Given the description of an element on the screen output the (x, y) to click on. 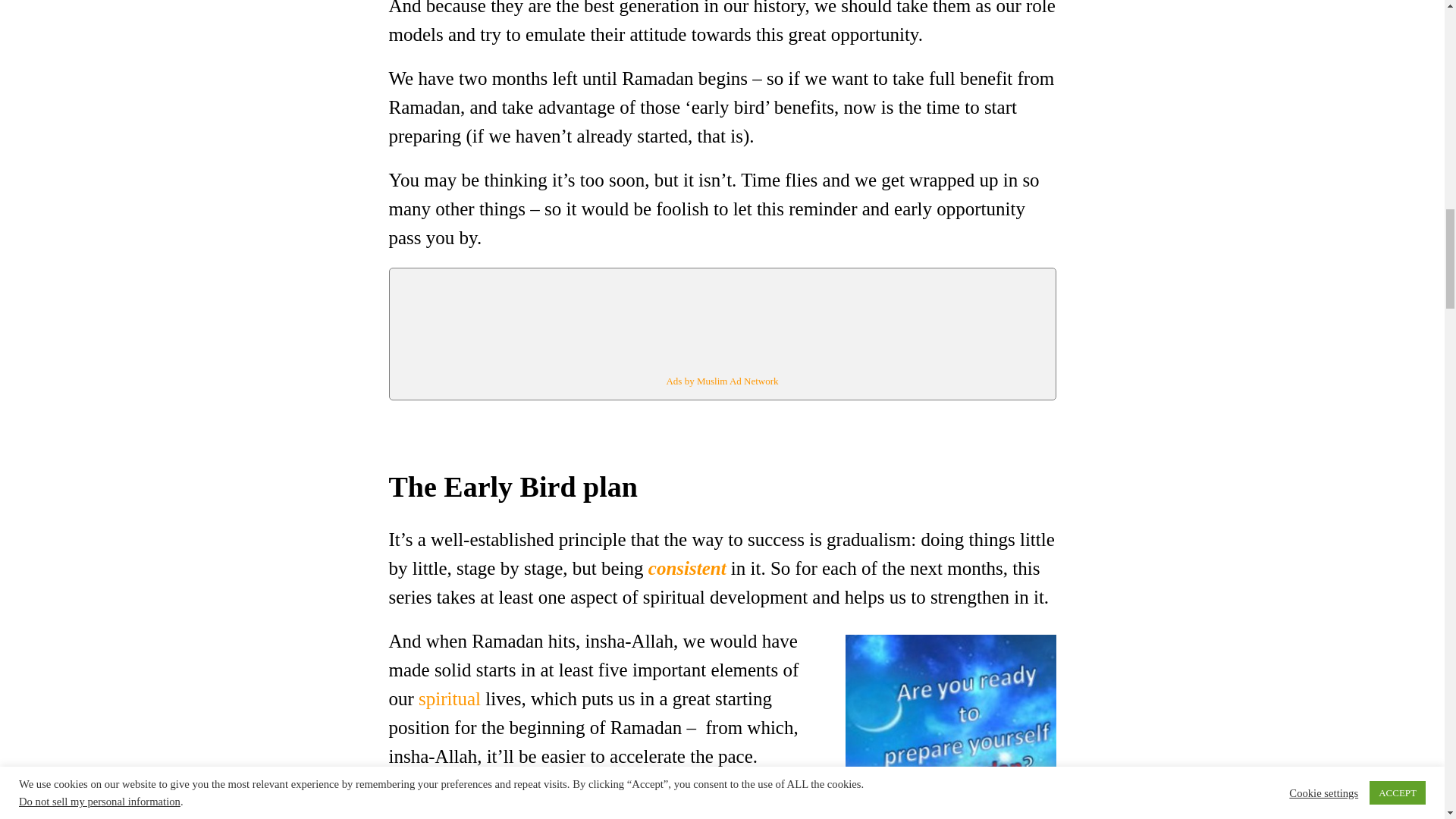
prepare (938, 723)
consistent (686, 567)
spiritual (449, 698)
Ads by Muslim Ad Network (721, 380)
Advertise and Market to Muslims (721, 380)
